Given the description of an element on the screen output the (x, y) to click on. 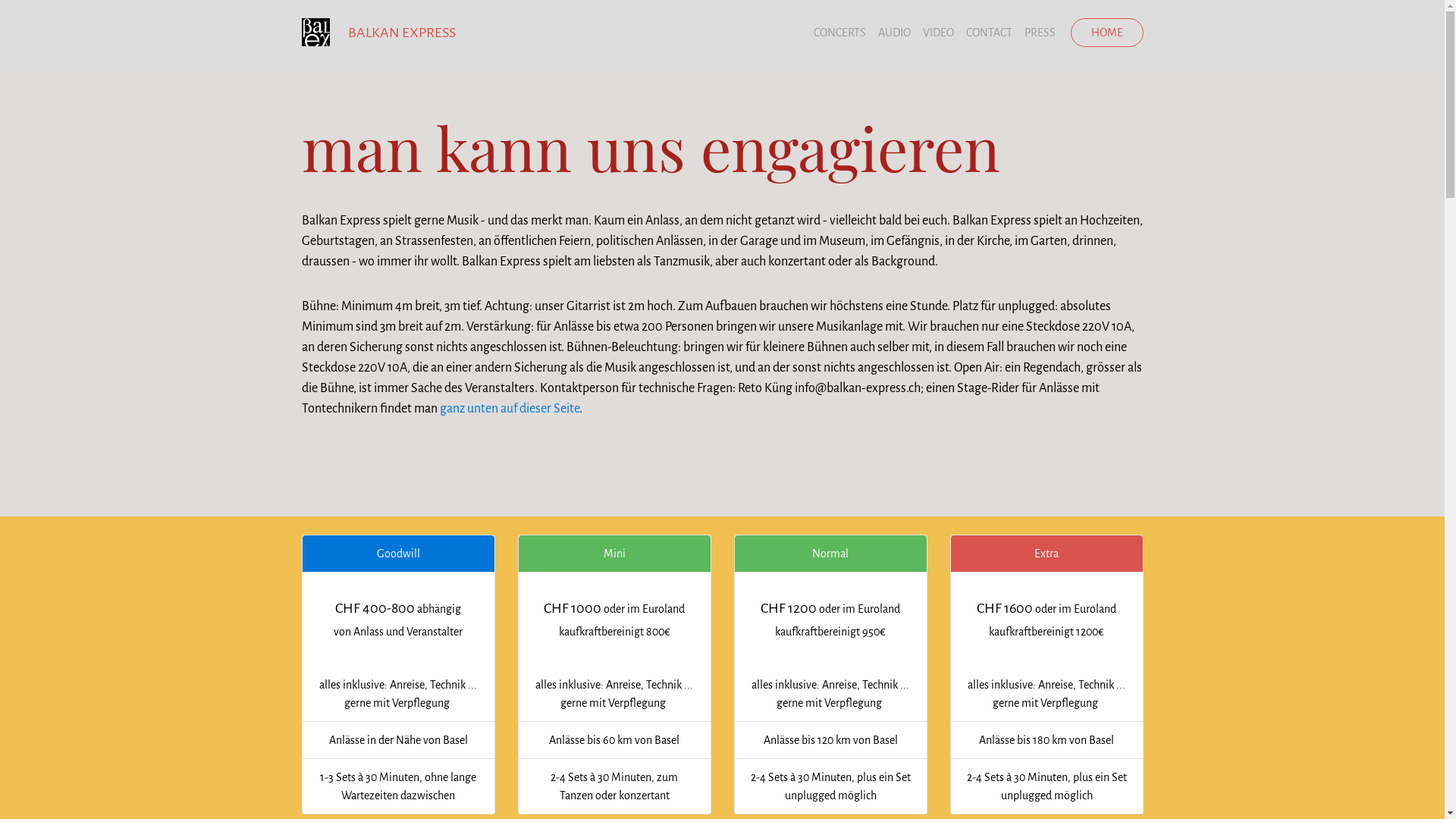
VIDEO Element type: text (937, 32)
PRESS Element type: text (1039, 32)
CONTACT Element type: text (989, 32)
AUDIO Element type: text (894, 32)
CONCERTS Element type: text (839, 32)
ganz unten auf dieser Seite Element type: text (509, 408)
HOME Element type: text (1106, 32)
BALKAN EXPRESS Element type: text (401, 32)
